Given the description of an element on the screen output the (x, y) to click on. 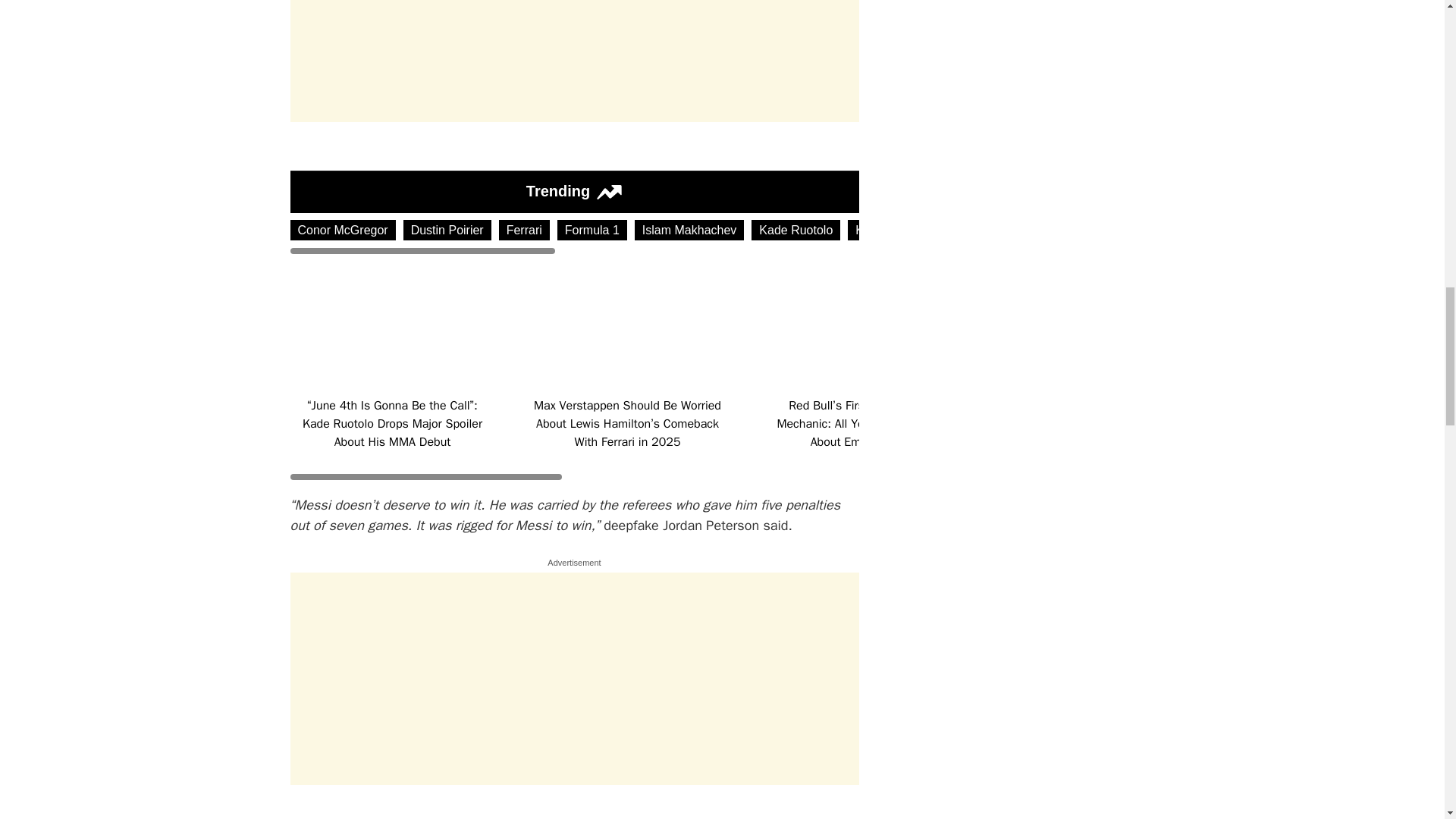
Lewis Hamilton (1045, 230)
Ferrari (524, 230)
Formula 1 (592, 230)
Islam Makhachev (689, 230)
Max Verstappen (1155, 230)
Dustin Poirier (447, 230)
Kade Ruotolo (795, 230)
Khabib Nurmagomedov (918, 230)
Mercedes (1246, 230)
Conor McGregor (341, 230)
